Given the description of an element on the screen output the (x, y) to click on. 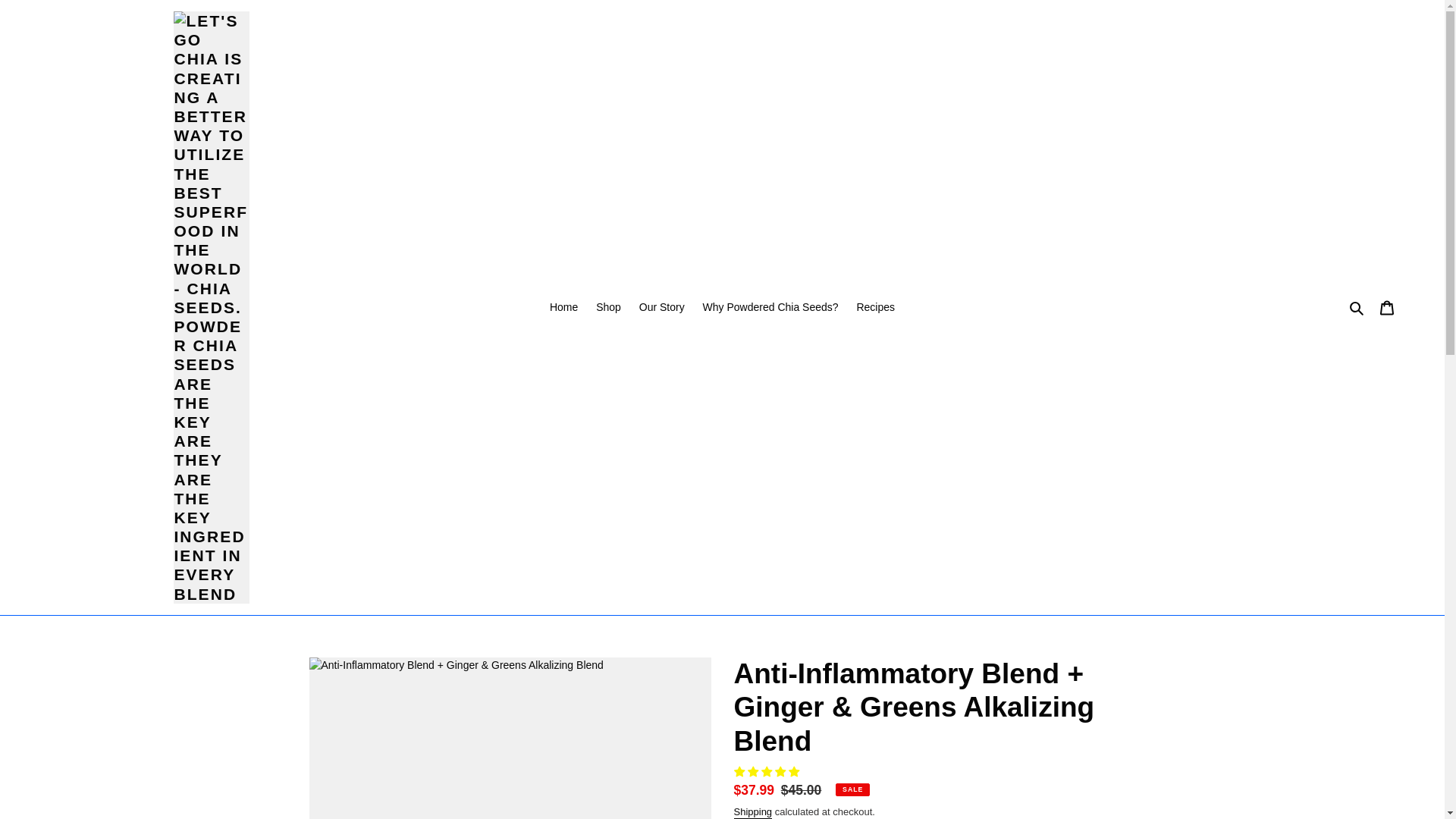
Shop (608, 307)
Search (1357, 307)
Shipping (753, 812)
Why Powdered Chia Seeds? (770, 307)
Our Story (662, 307)
Cart (1387, 306)
Home (563, 307)
Recipes (875, 307)
